Given the description of an element on the screen output the (x, y) to click on. 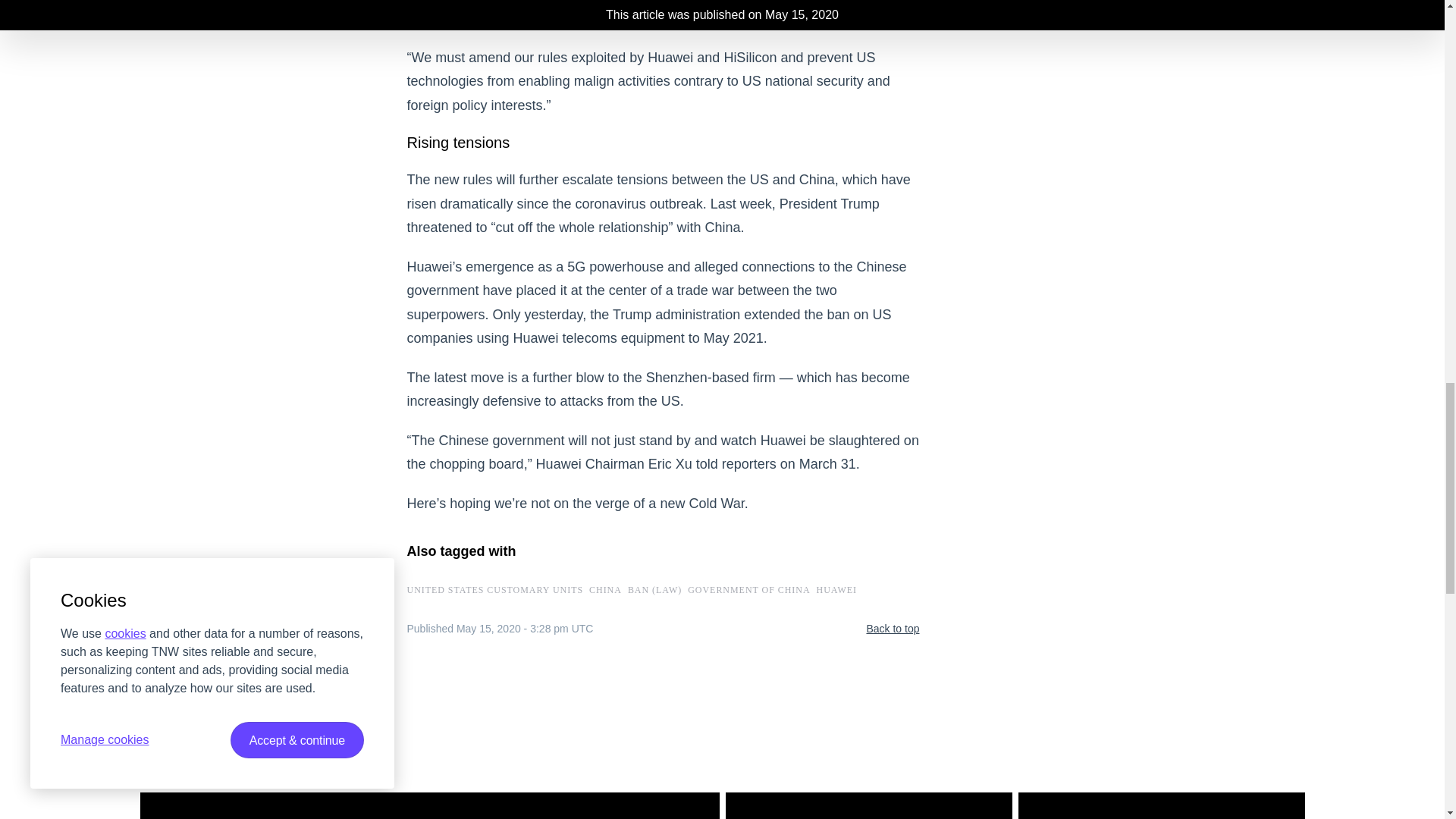
Back to top (892, 628)
TNW (320, 785)
